Given the description of an element on the screen output the (x, y) to click on. 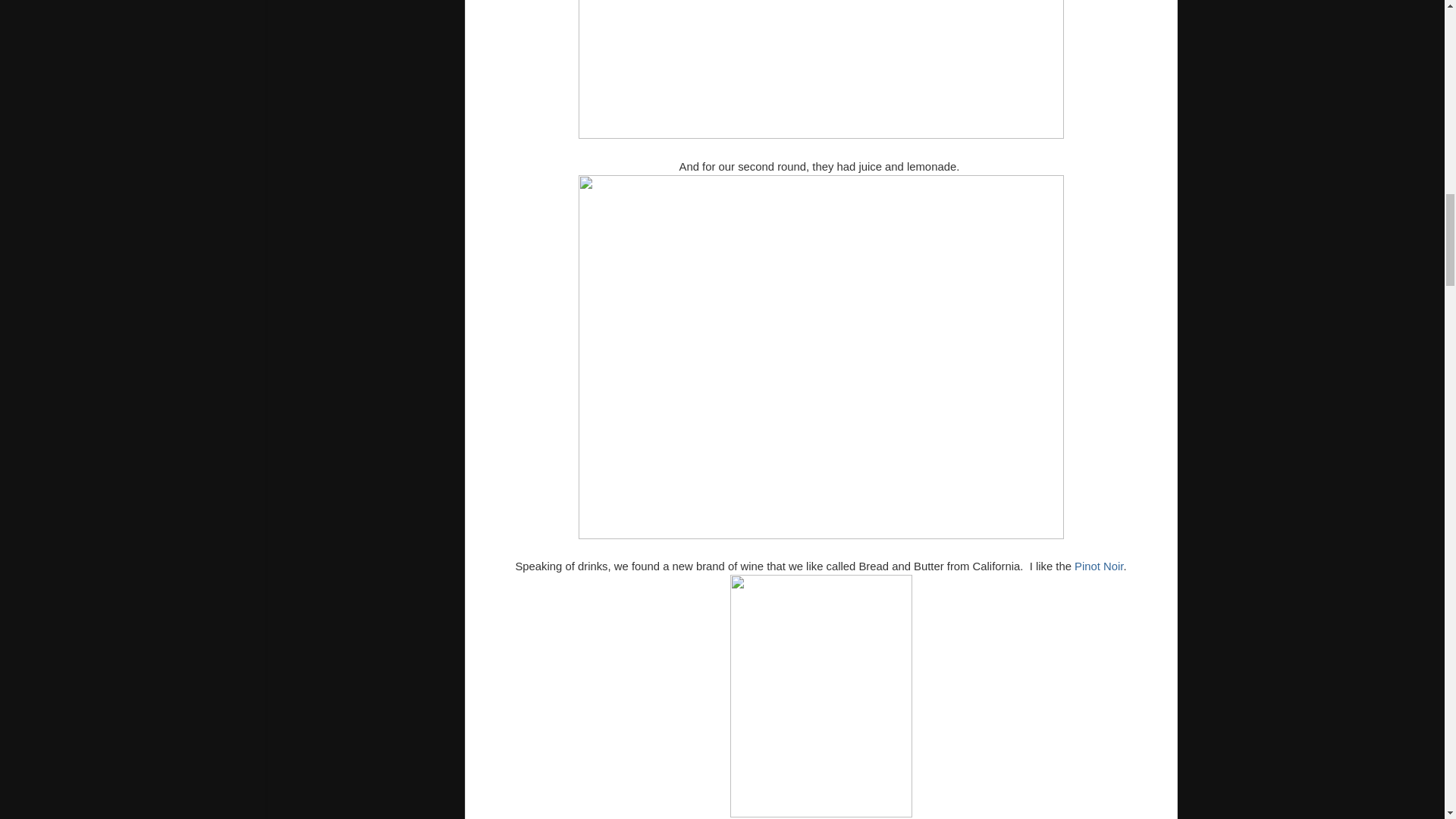
Pinot Noir (1098, 566)
